Given the description of an element on the screen output the (x, y) to click on. 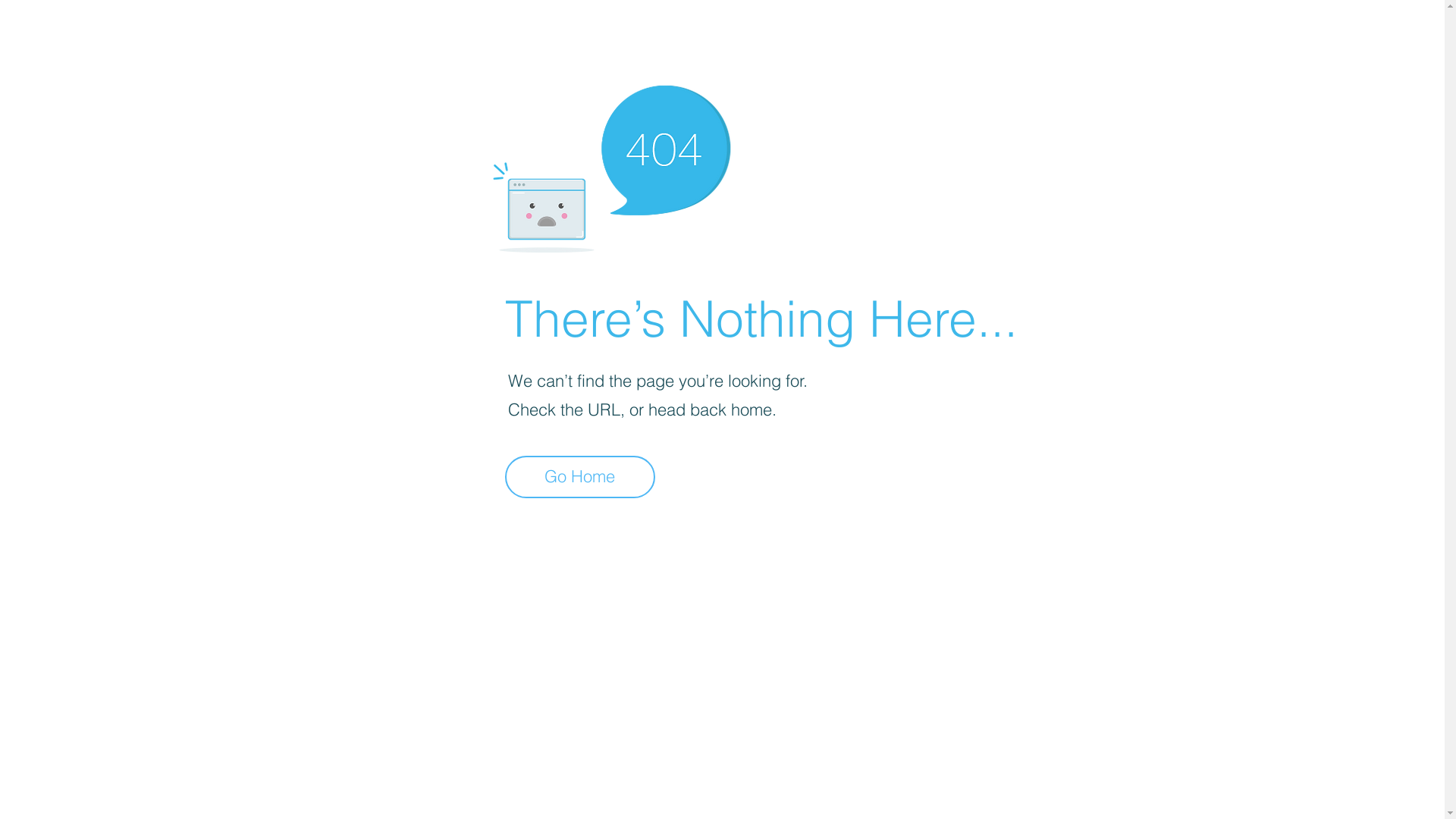
404-icon_2.png Element type: hover (610, 164)
Go Home Element type: text (580, 476)
